Given the description of an element on the screen output the (x, y) to click on. 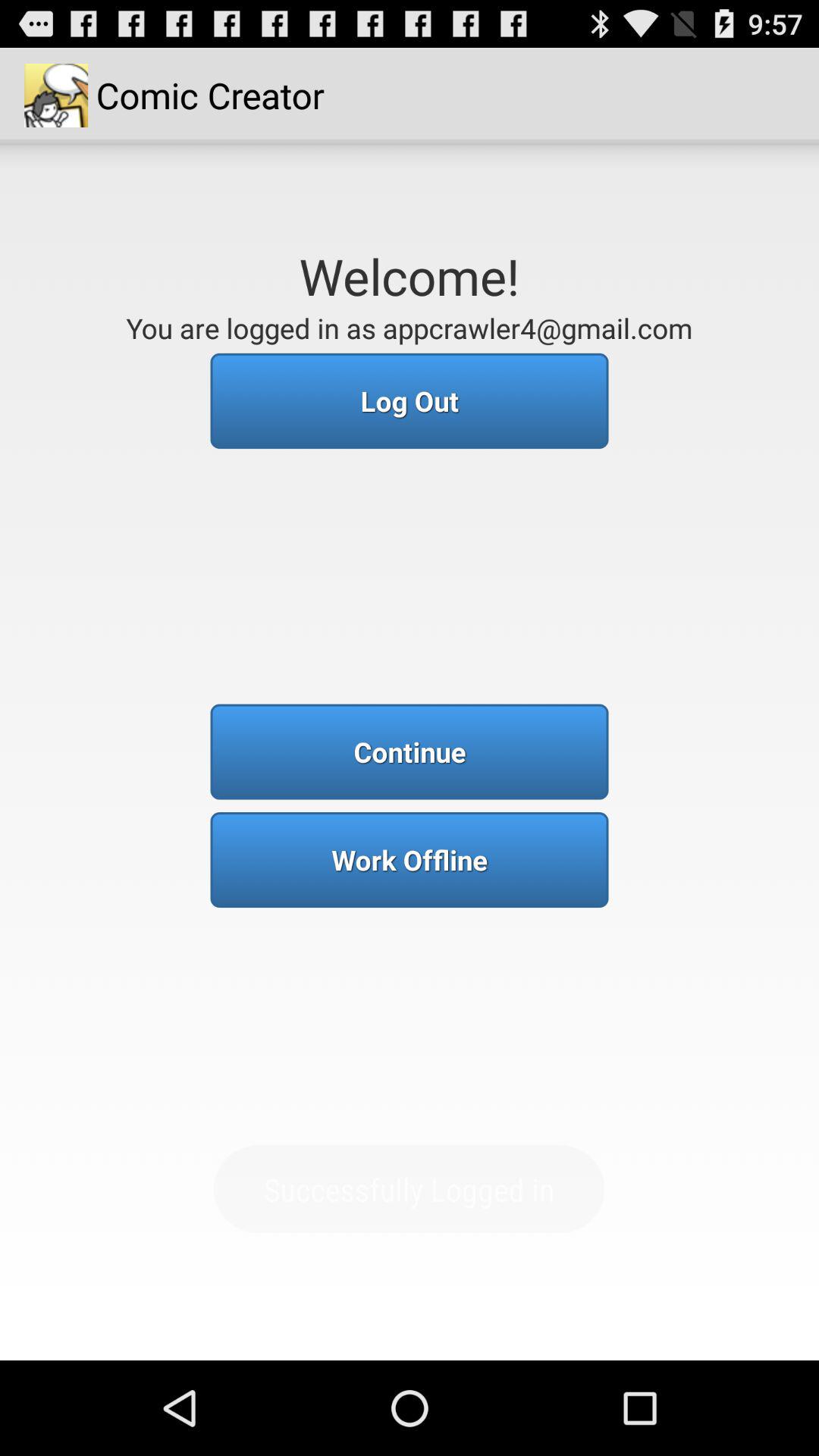
press the item below the continue item (409, 859)
